Given the description of an element on the screen output the (x, y) to click on. 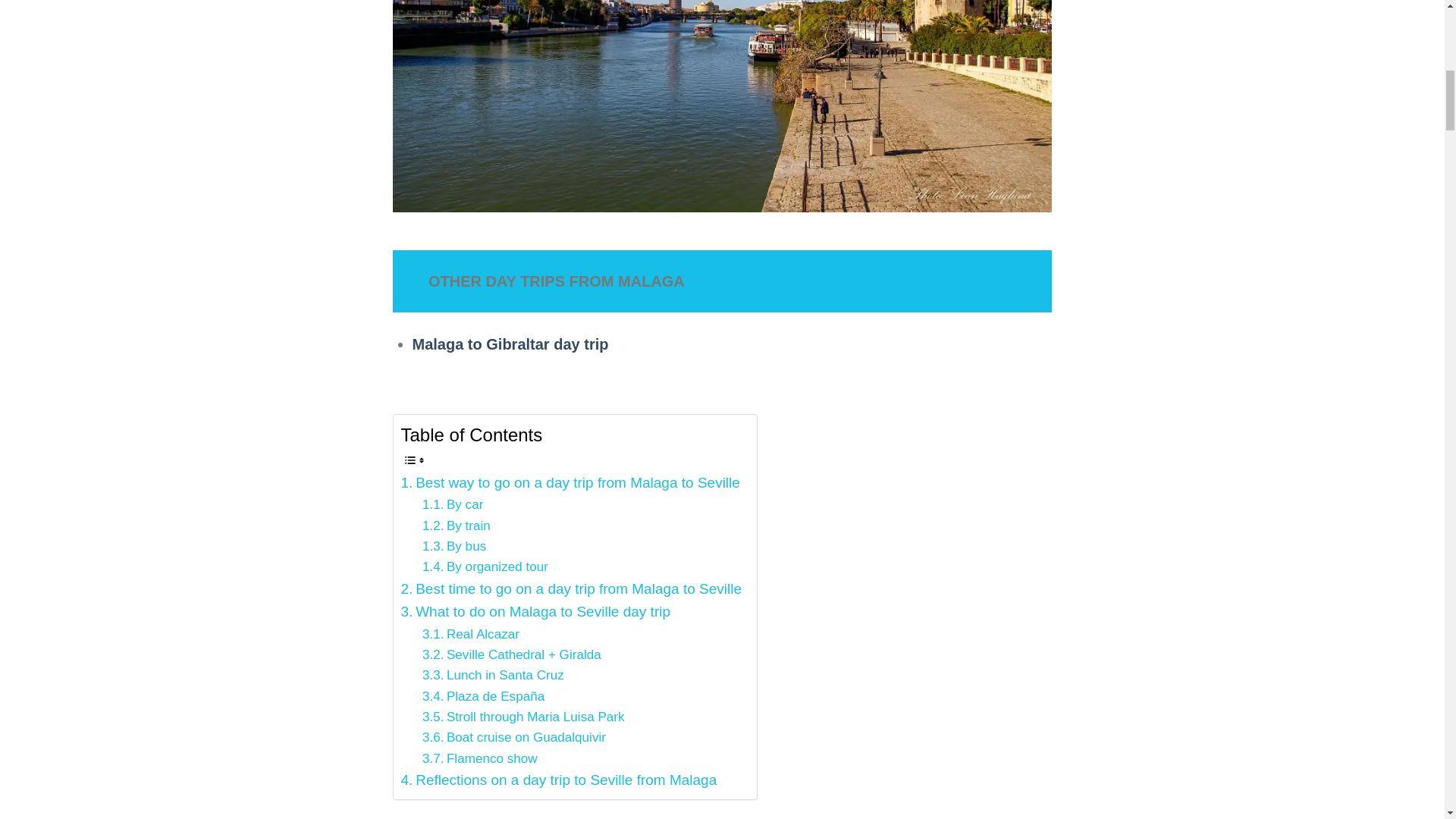
Stroll through Maria Luisa Park (523, 716)
By train (456, 525)
Real Alcazar (470, 634)
By bus (454, 546)
Real Alcazar (470, 634)
By organized tour (485, 566)
Best time to go on a day trip from Malaga to Seville (570, 589)
Flamenco show (479, 758)
Best way to go on a day trip from Malaga to Seville (569, 482)
By organized tour (485, 566)
By train (456, 525)
By bus (454, 546)
What to do on Malaga to Seville day trip (534, 611)
Boat cruise on Guadalquivir (513, 737)
Reflections on a day trip to Seville from Malaga (558, 780)
